Given the description of an element on the screen output the (x, y) to click on. 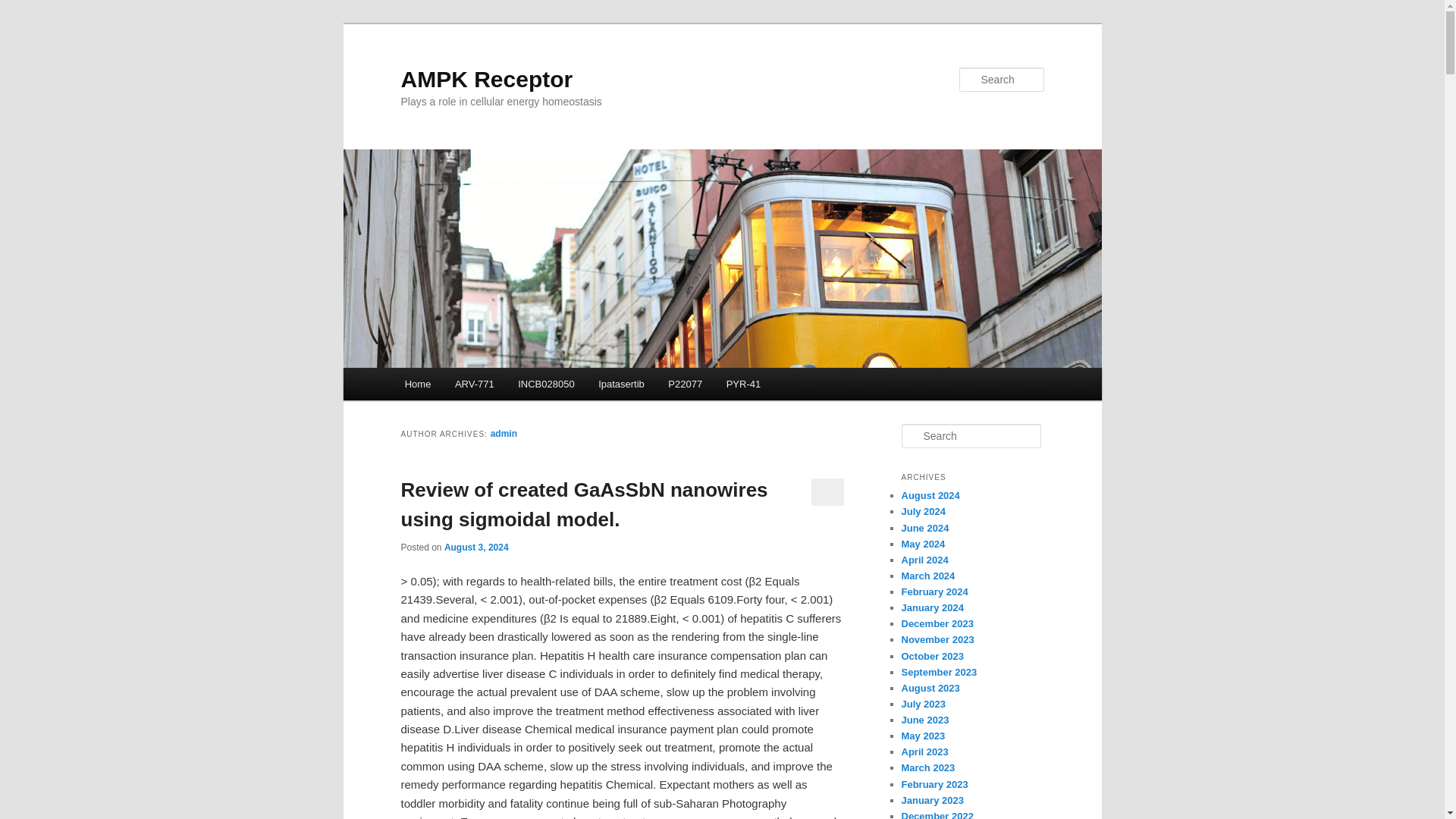
admin (503, 433)
Skip to secondary content (479, 386)
August 3, 2024 (476, 547)
PYR-41 (743, 383)
Ipatasertib (621, 383)
Skip to primary content (472, 386)
Home (417, 383)
P22077 (685, 383)
Home (417, 383)
Skip to primary content (472, 386)
INCB028050 (545, 383)
12:30 pm (476, 547)
AMPK Receptor (486, 78)
